Given the description of an element on the screen output the (x, y) to click on. 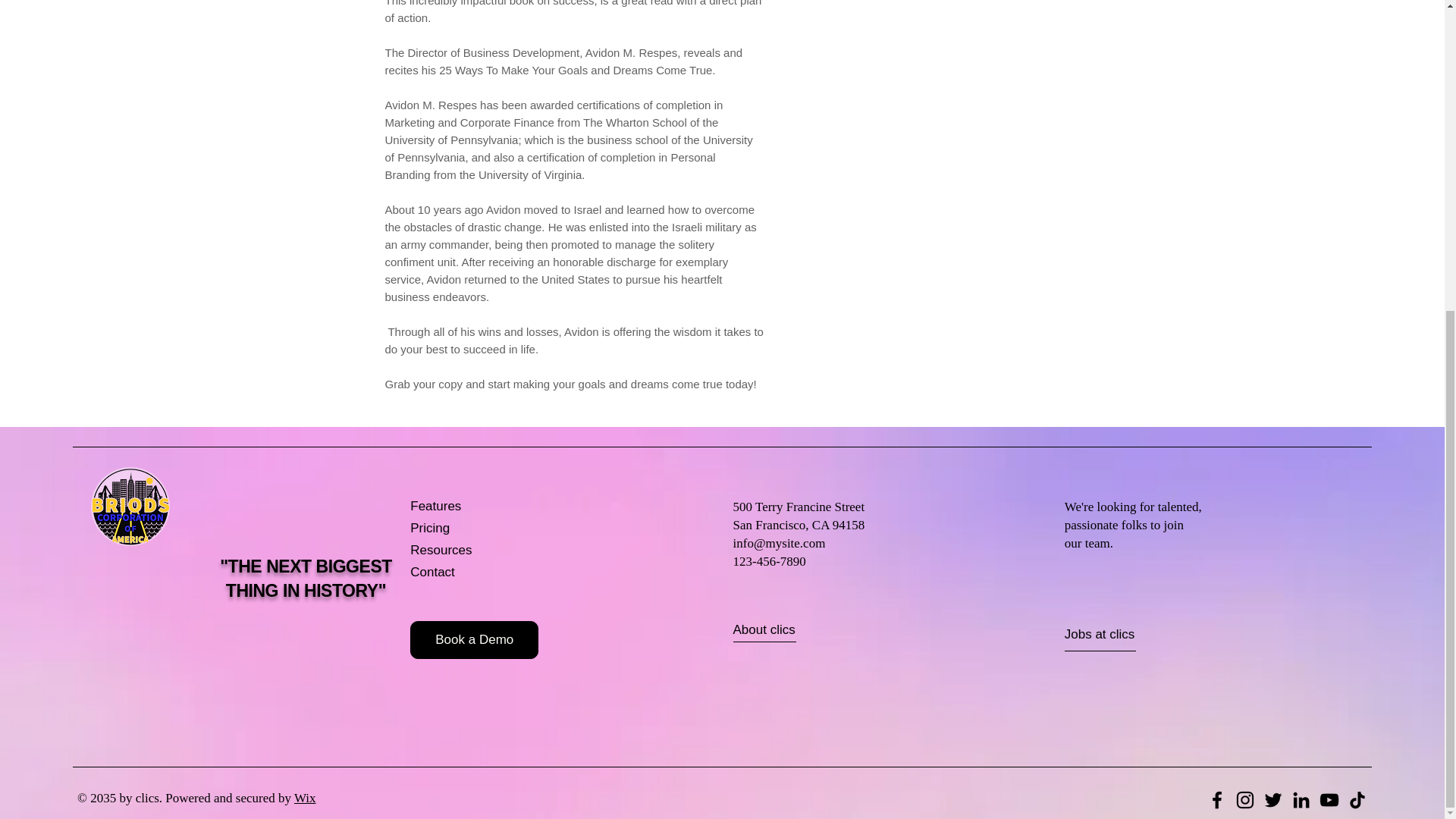
Book a Demo (474, 639)
About clics (788, 630)
Jobs at clics (1118, 634)
Features (464, 506)
Resources (464, 550)
Pricing (464, 528)
